Given the description of an element on the screen output the (x, y) to click on. 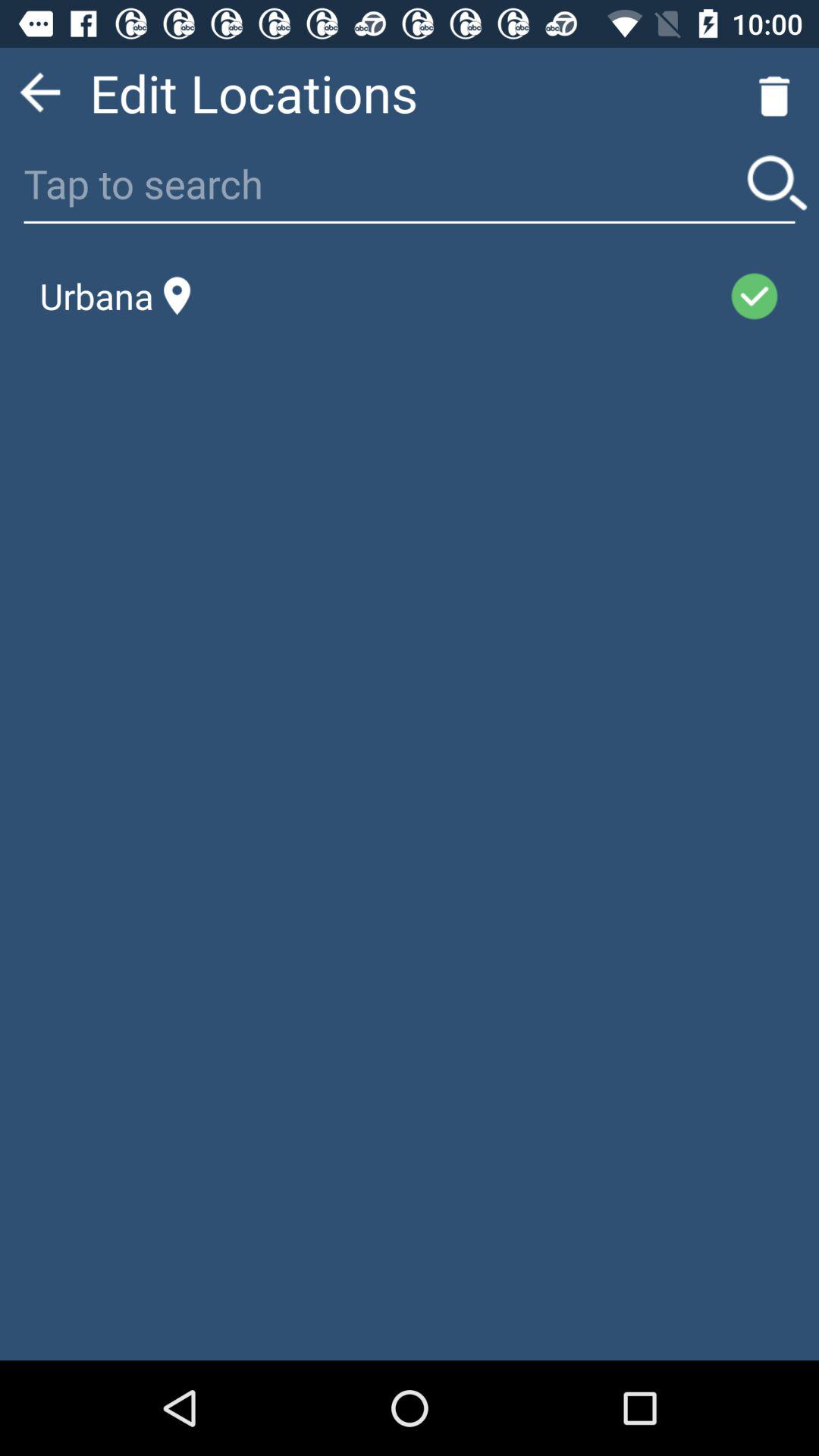
open the urbana app (115, 295)
